Given the description of an element on the screen output the (x, y) to click on. 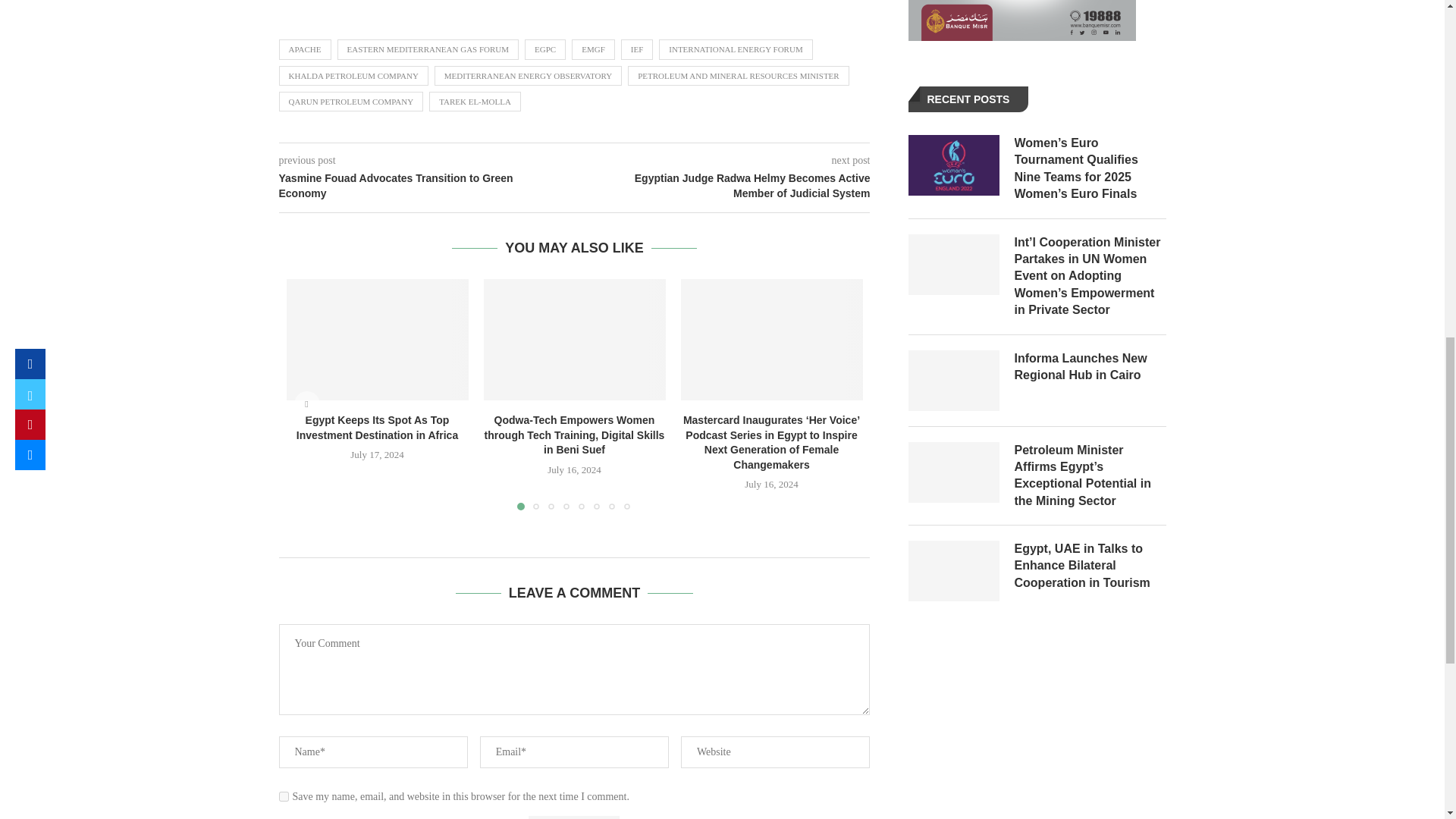
Egypt Keeps Its Spot As Top Investment Destination in Africa (377, 339)
yes (283, 796)
Submit (574, 817)
